Given the description of an element on the screen output the (x, y) to click on. 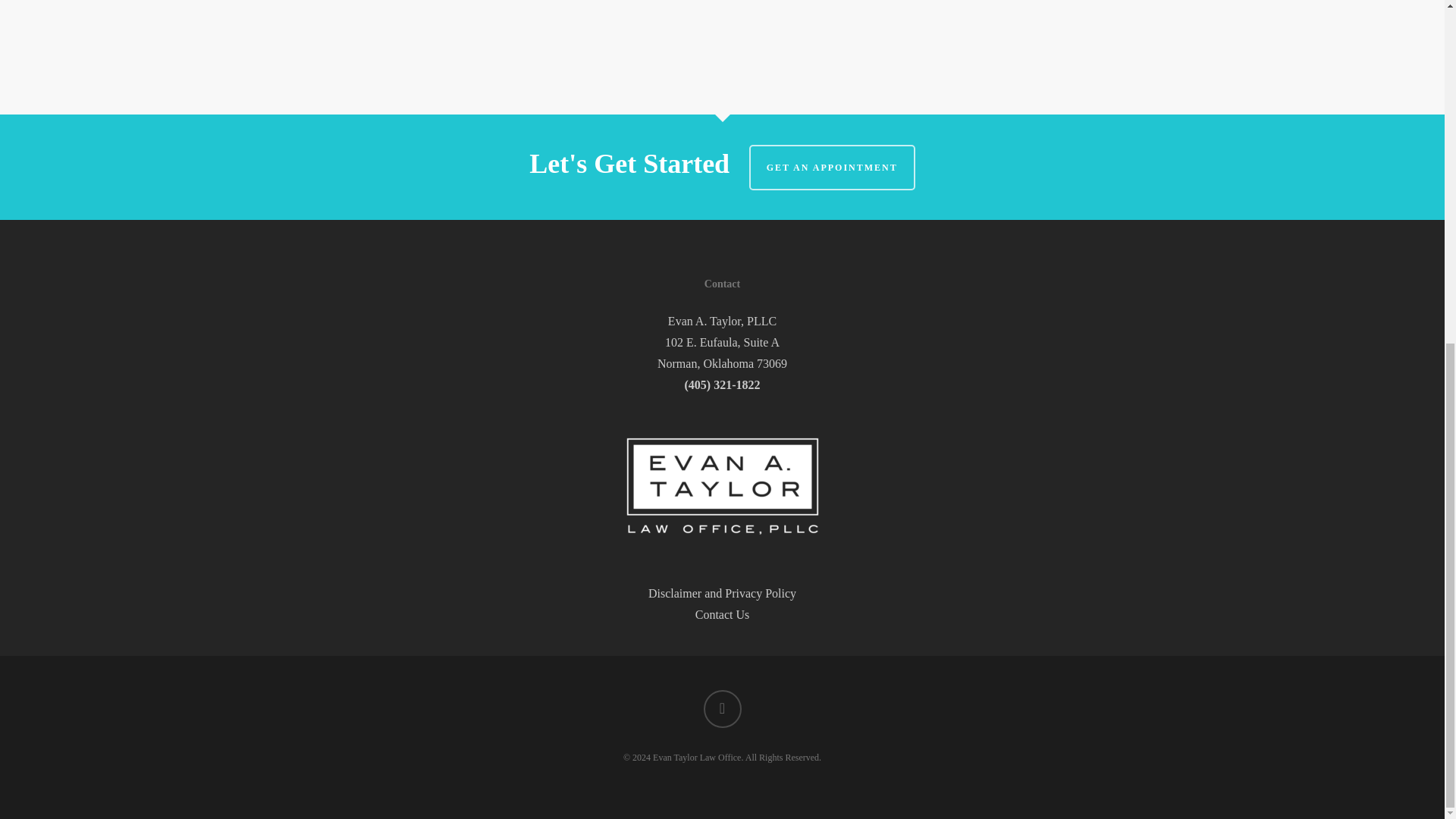
GET AN APPOINTMENT (832, 167)
Disclaimer (674, 593)
